Given the description of an element on the screen output the (x, y) to click on. 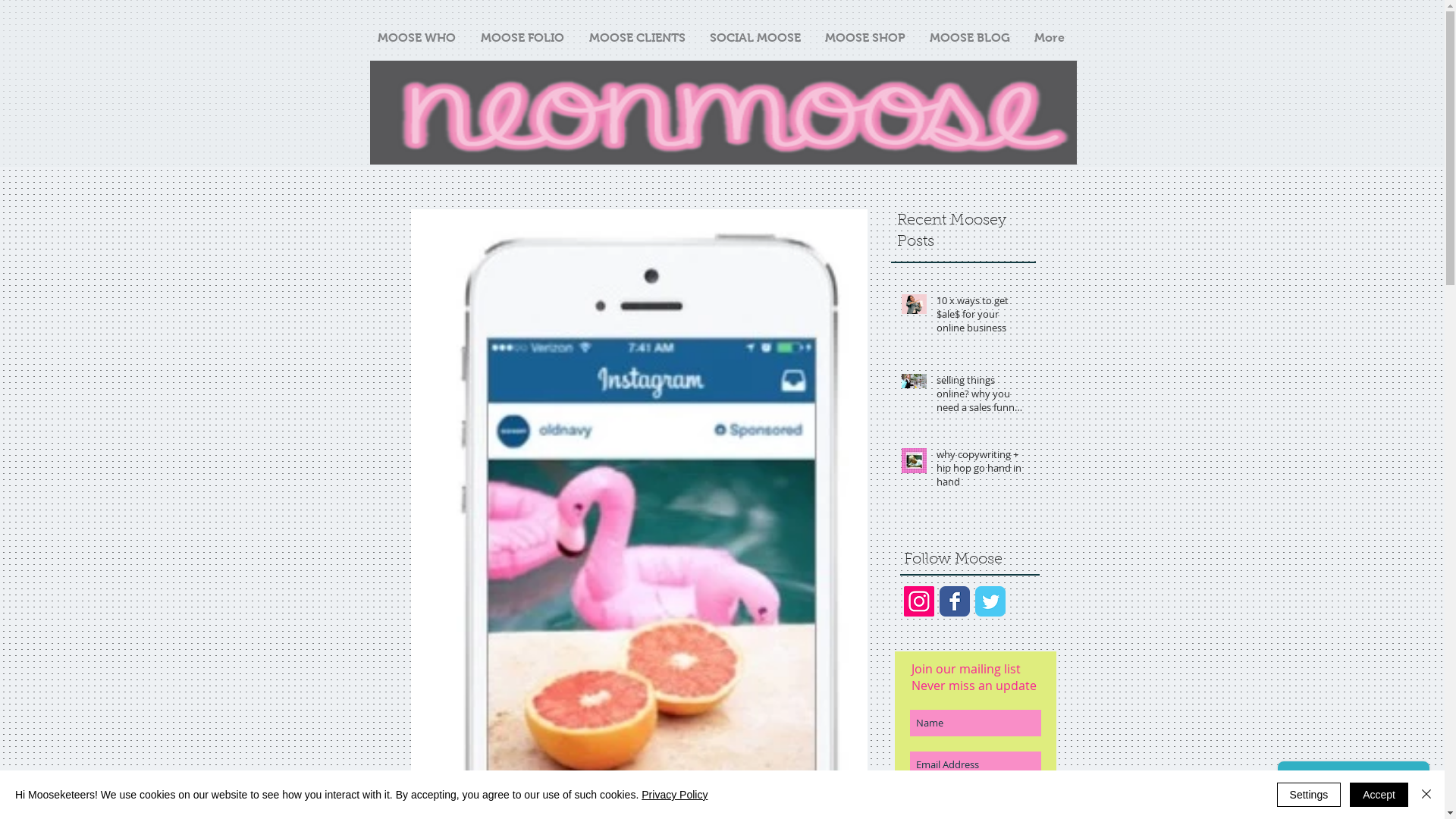
why copywriting + hip hop go hand in hand Element type: text (980, 471)
MOOSE BLOG Element type: text (969, 37)
Accept Element type: text (1378, 794)
SOCIAL MOOSE Element type: text (754, 37)
Subscribe Now Element type: text (975, 798)
Privacy Policy Element type: text (674, 794)
MOOSE FOLIO Element type: text (522, 37)
Embedded Content Element type: hover (722, 83)
MOOSE WHO Element type: text (416, 37)
MOOSE SHOP Element type: text (864, 37)
Settings Element type: text (1309, 794)
MOOSE CLIENTS Element type: text (636, 37)
10 x ways to get $ale$ for your online business Element type: text (980, 317)
